Given the description of an element on the screen output the (x, y) to click on. 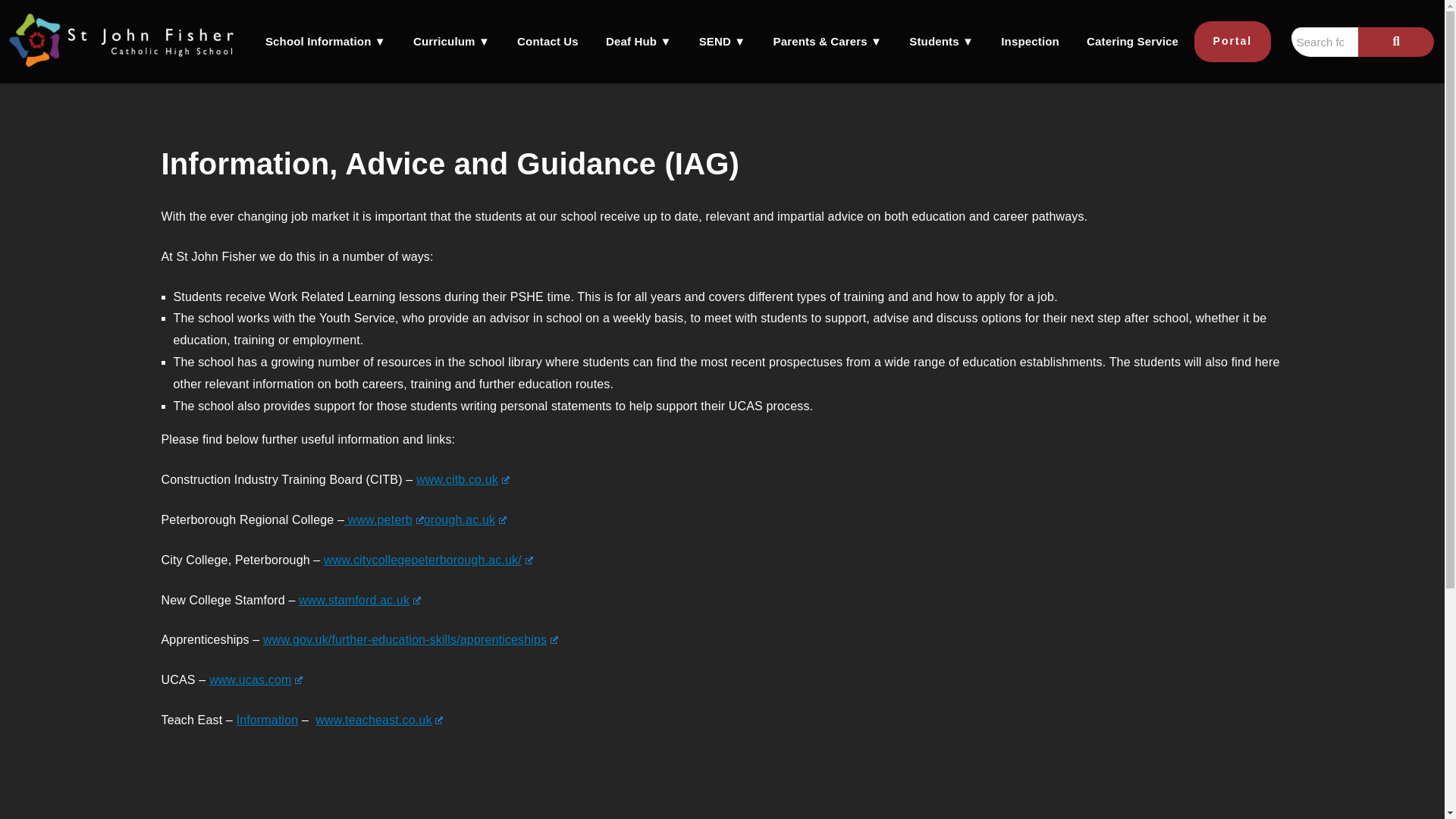
Search (1324, 41)
Contact Us (547, 37)
